Given the description of an element on the screen output the (x, y) to click on. 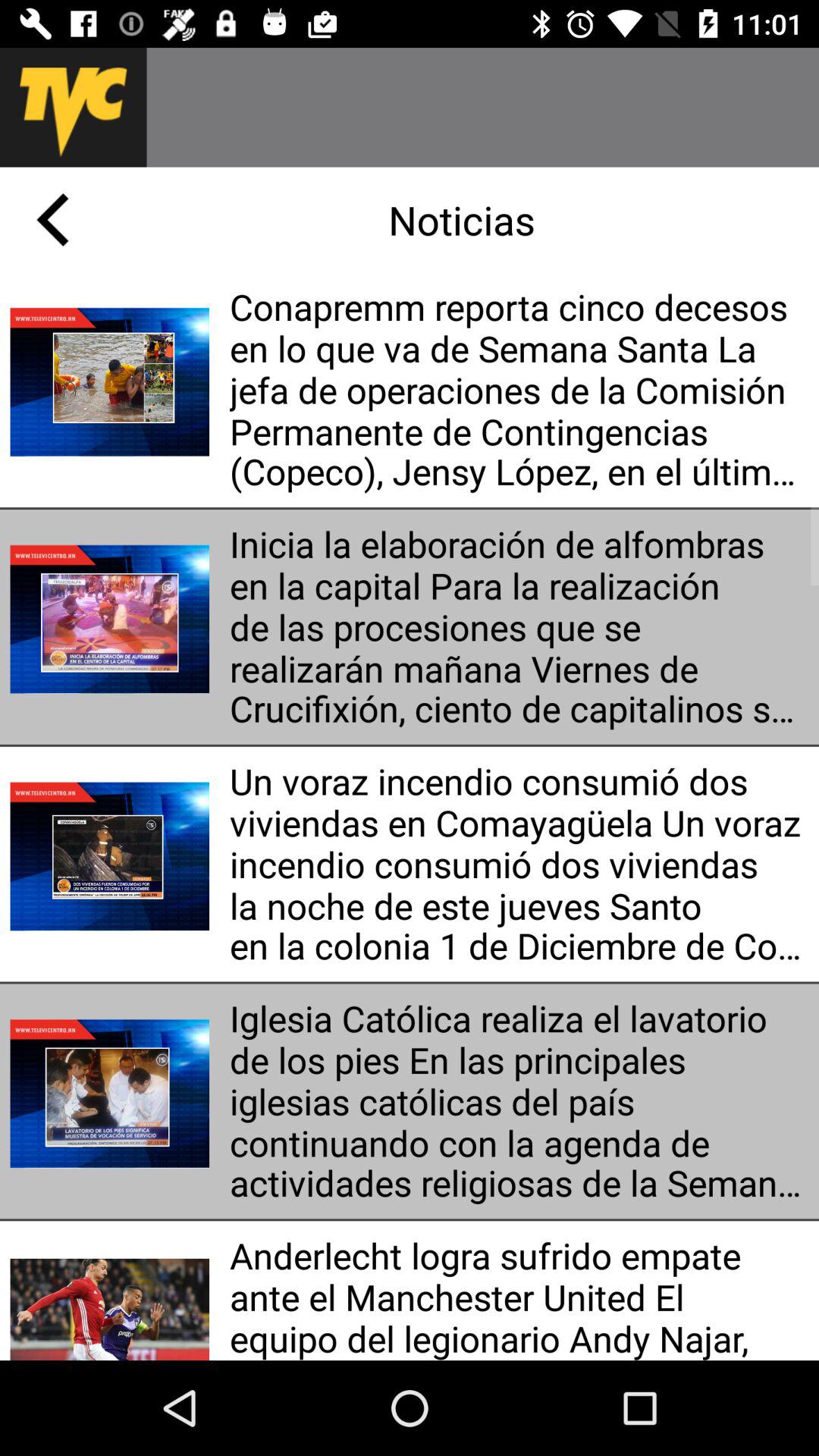
turn off the icon next to noticias icon (52, 219)
